Given the description of an element on the screen output the (x, y) to click on. 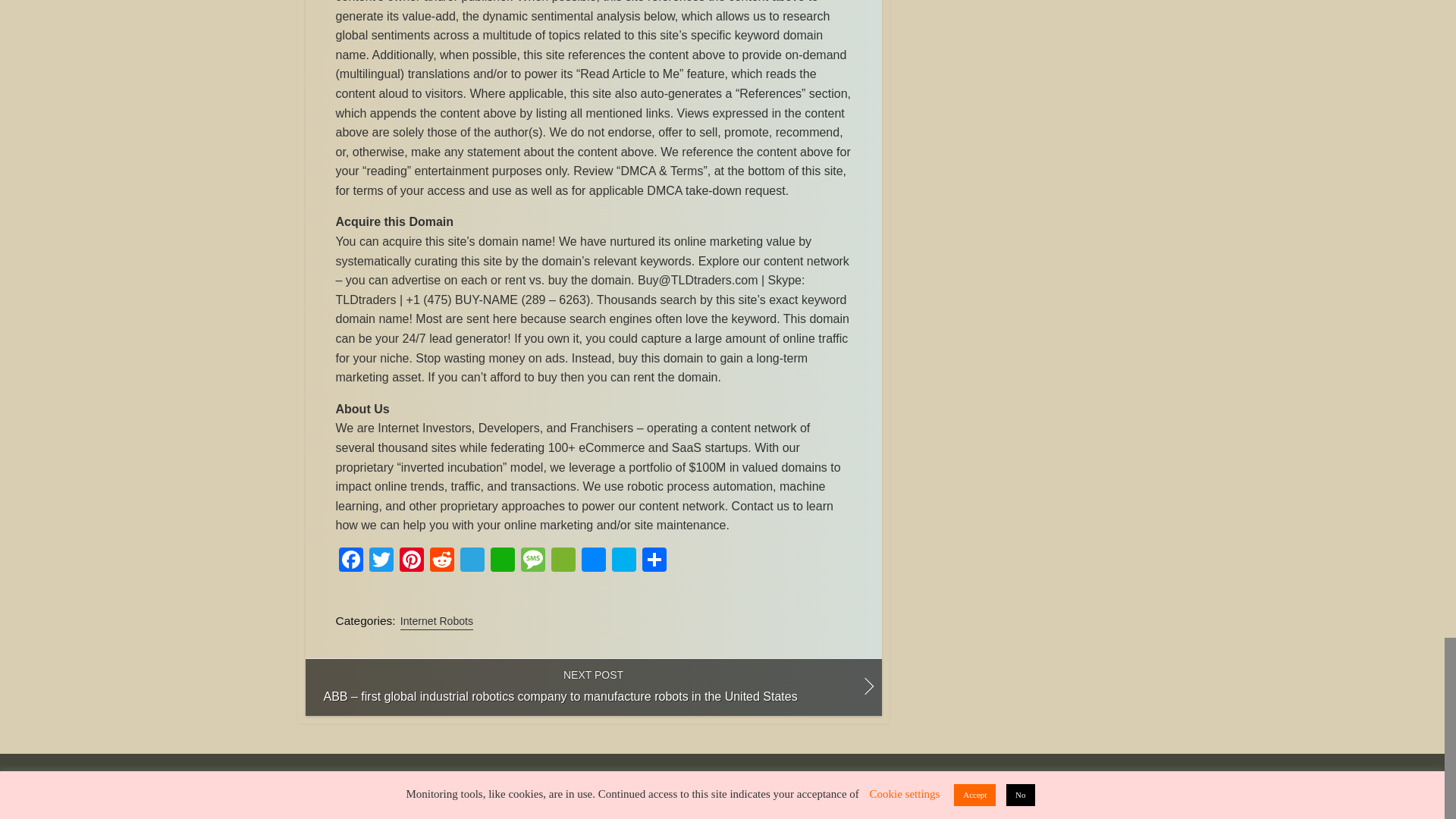
Message (531, 561)
Facebook (349, 561)
WeChat (562, 561)
Messenger (593, 561)
Facebook (349, 561)
Skype (623, 561)
Twitter (380, 561)
Skype (623, 561)
WhatsApp (501, 561)
Twitter (380, 561)
Reddit (441, 561)
Share (653, 561)
Privacy (794, 785)
WeChat (562, 561)
Pinterest (411, 561)
